Given the description of an element on the screen output the (x, y) to click on. 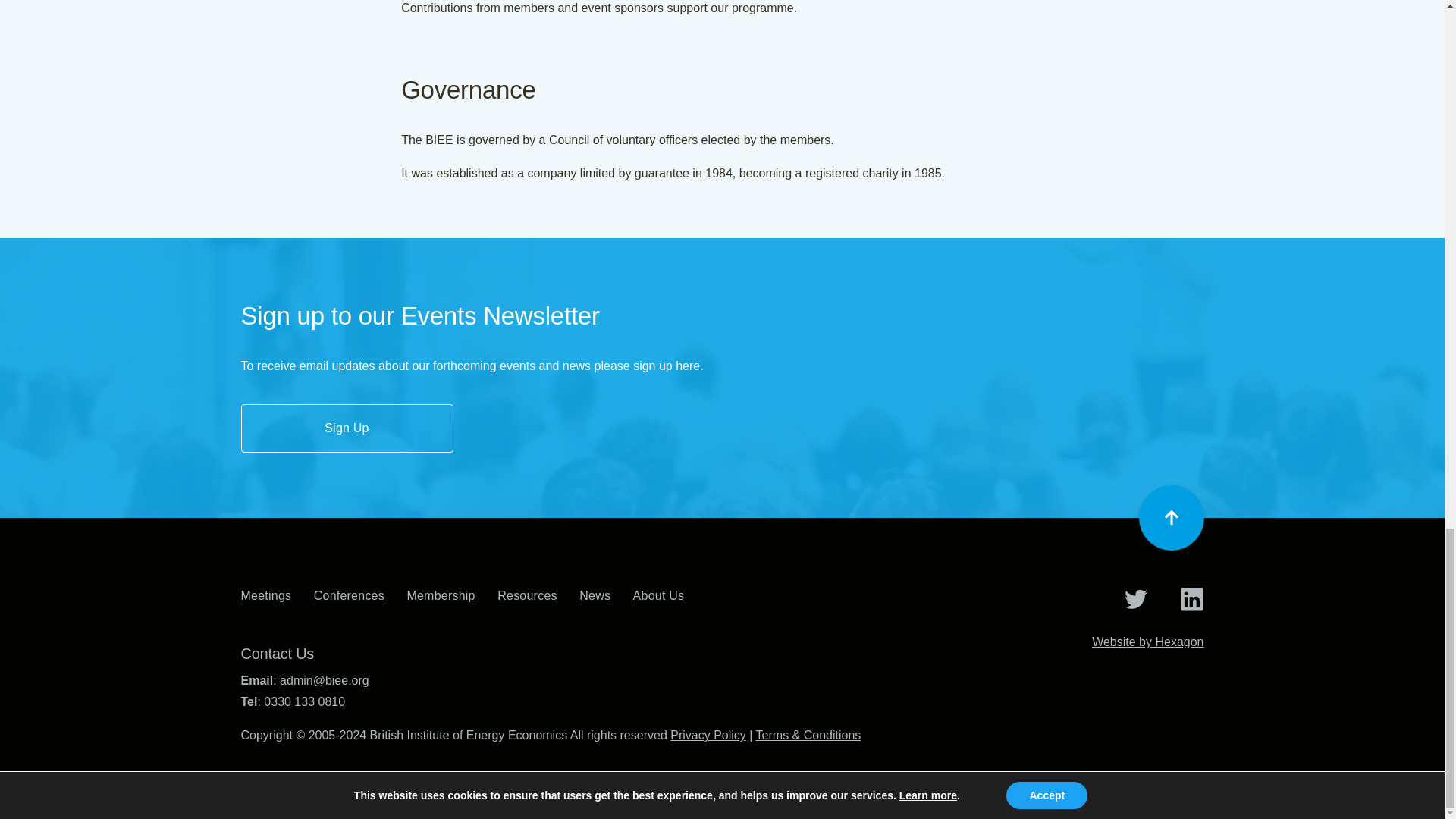
Web Design Oxford (1148, 641)
